Given the description of an element on the screen output the (x, y) to click on. 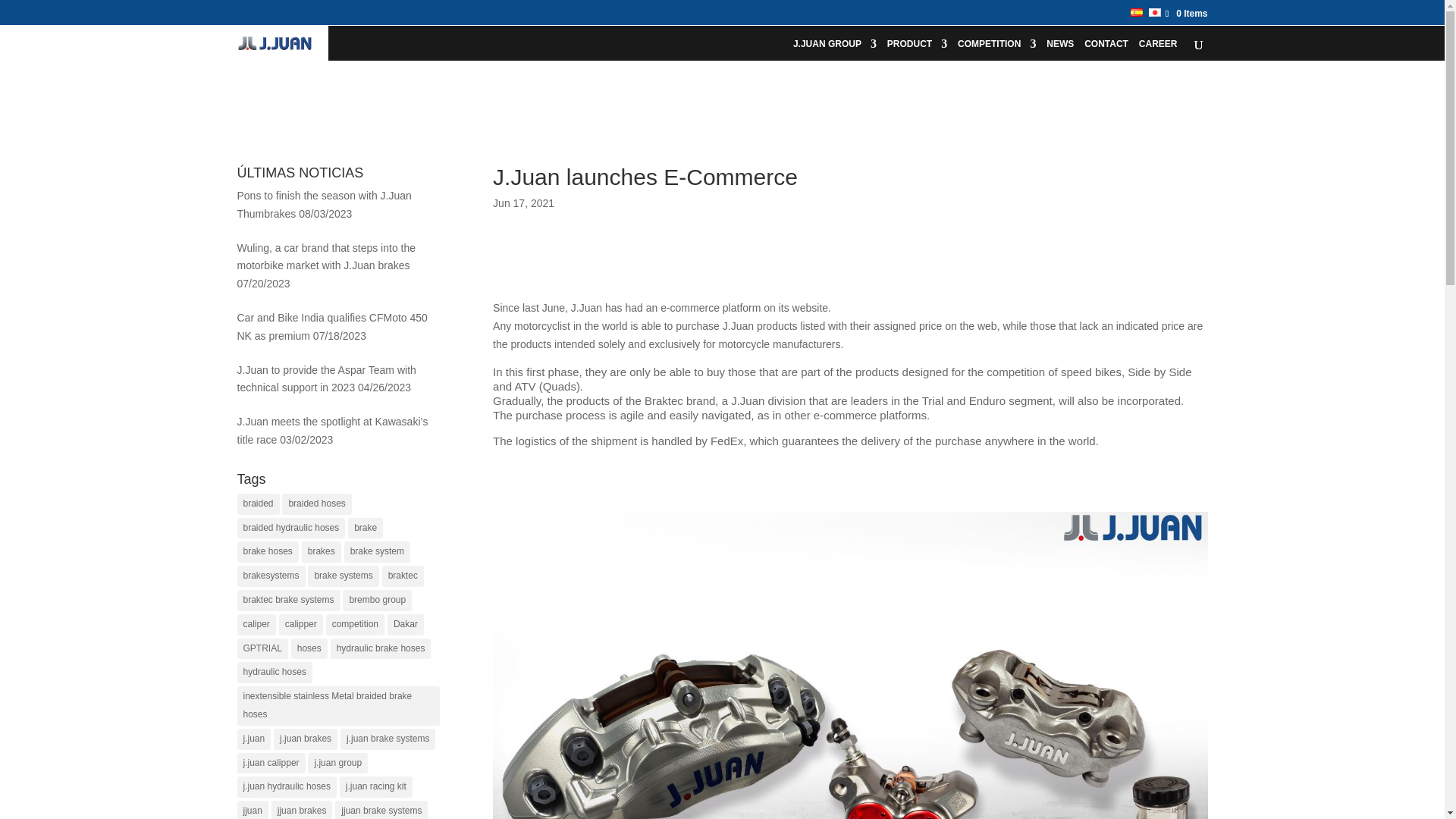
PRODUCT (916, 49)
COMPETITION (996, 49)
0 Items (1182, 13)
J.JUAN GROUP (834, 49)
NEWS (1060, 49)
CAREER (1157, 49)
CONTACT (1106, 49)
